Given the description of an element on the screen output the (x, y) to click on. 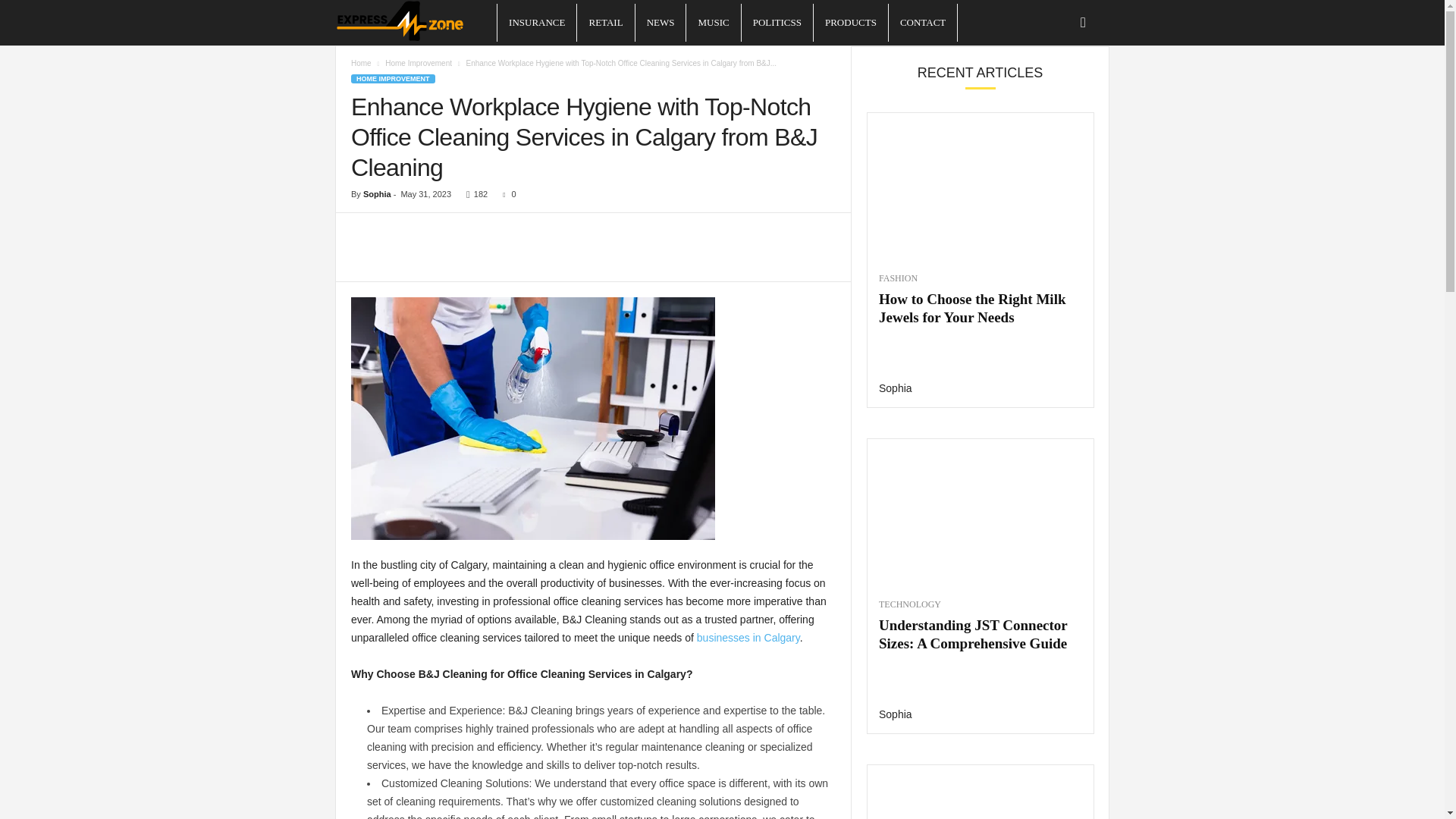
Express Zone (415, 22)
i - 2024-03-21T122052.094 (532, 418)
POLITICSS (776, 22)
businesses in Calgary (748, 637)
INSURANCE (536, 22)
Home Improvement (418, 62)
0 (505, 194)
PRODUCTS (850, 22)
Sophia (376, 194)
RETAIL (604, 22)
NEWS (659, 22)
View all posts in Home Improvement (418, 62)
HOME IMPROVEMENT (392, 78)
MUSIC (712, 22)
CONTACT (922, 22)
